Given the description of an element on the screen output the (x, y) to click on. 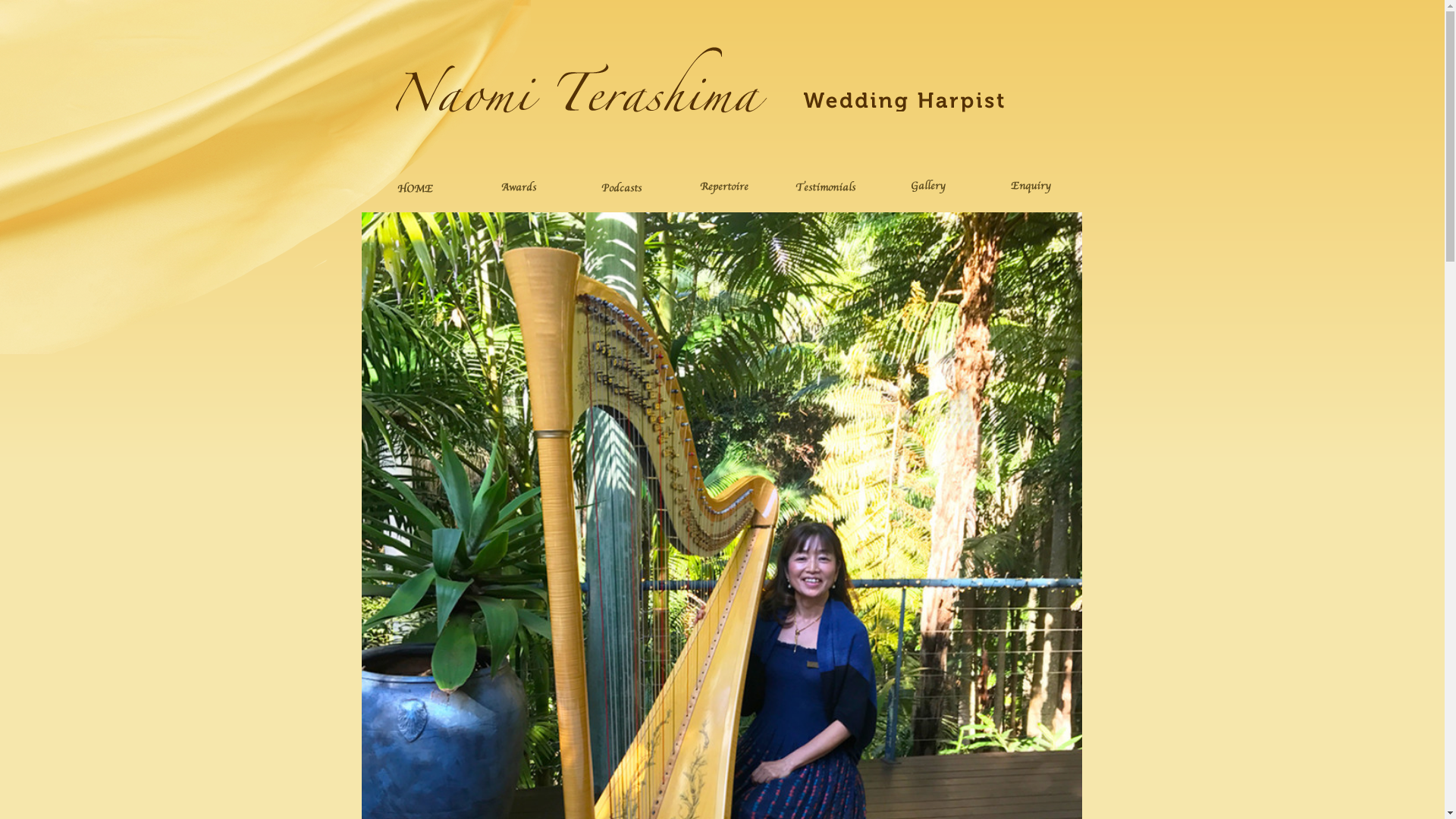
Naomi Terashima Harpist Element type: hover (699, 112)
home Element type: hover (414, 185)
